Given the description of an element on the screen output the (x, y) to click on. 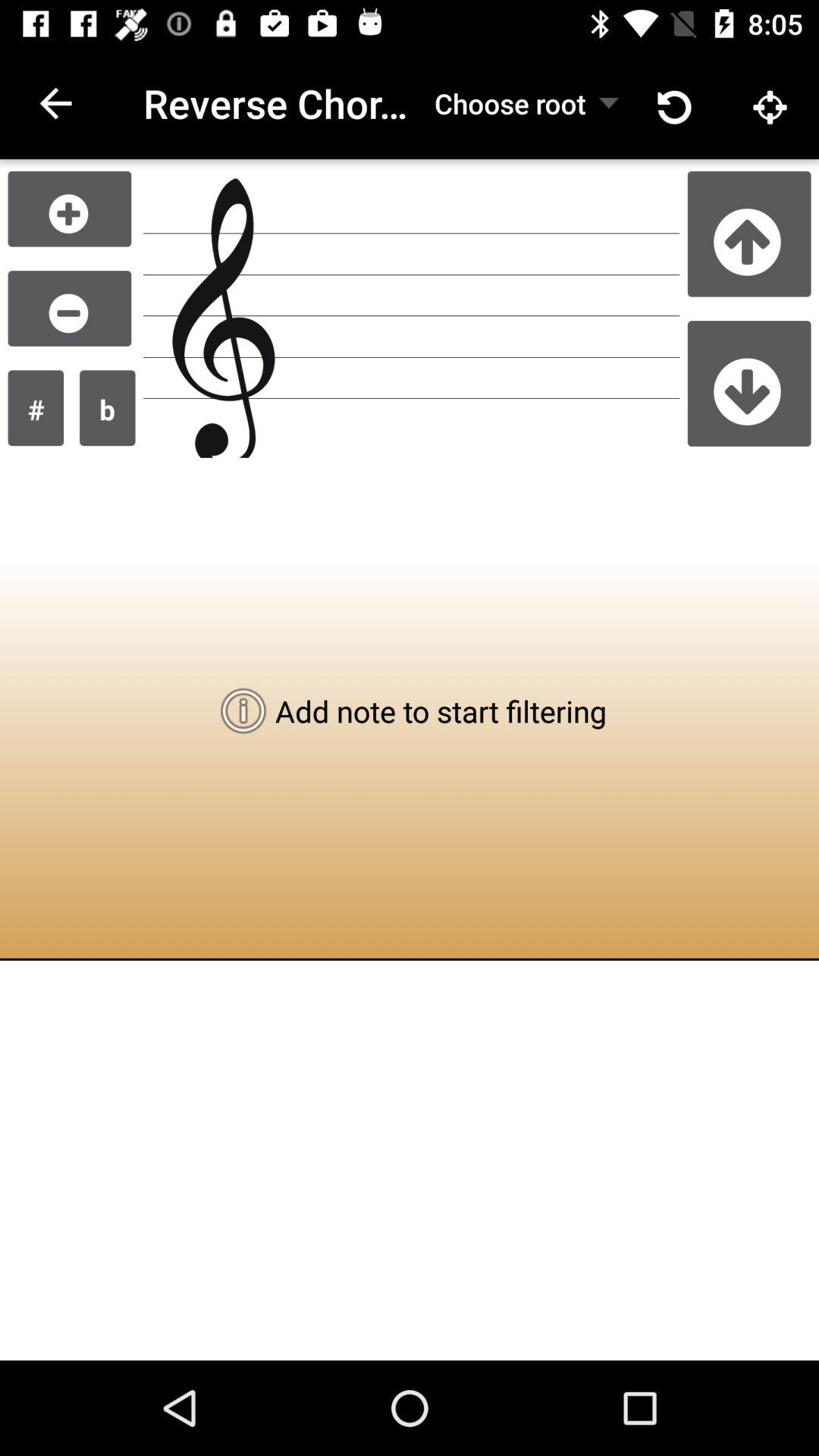
input (69, 208)
